Given the description of an element on the screen output the (x, y) to click on. 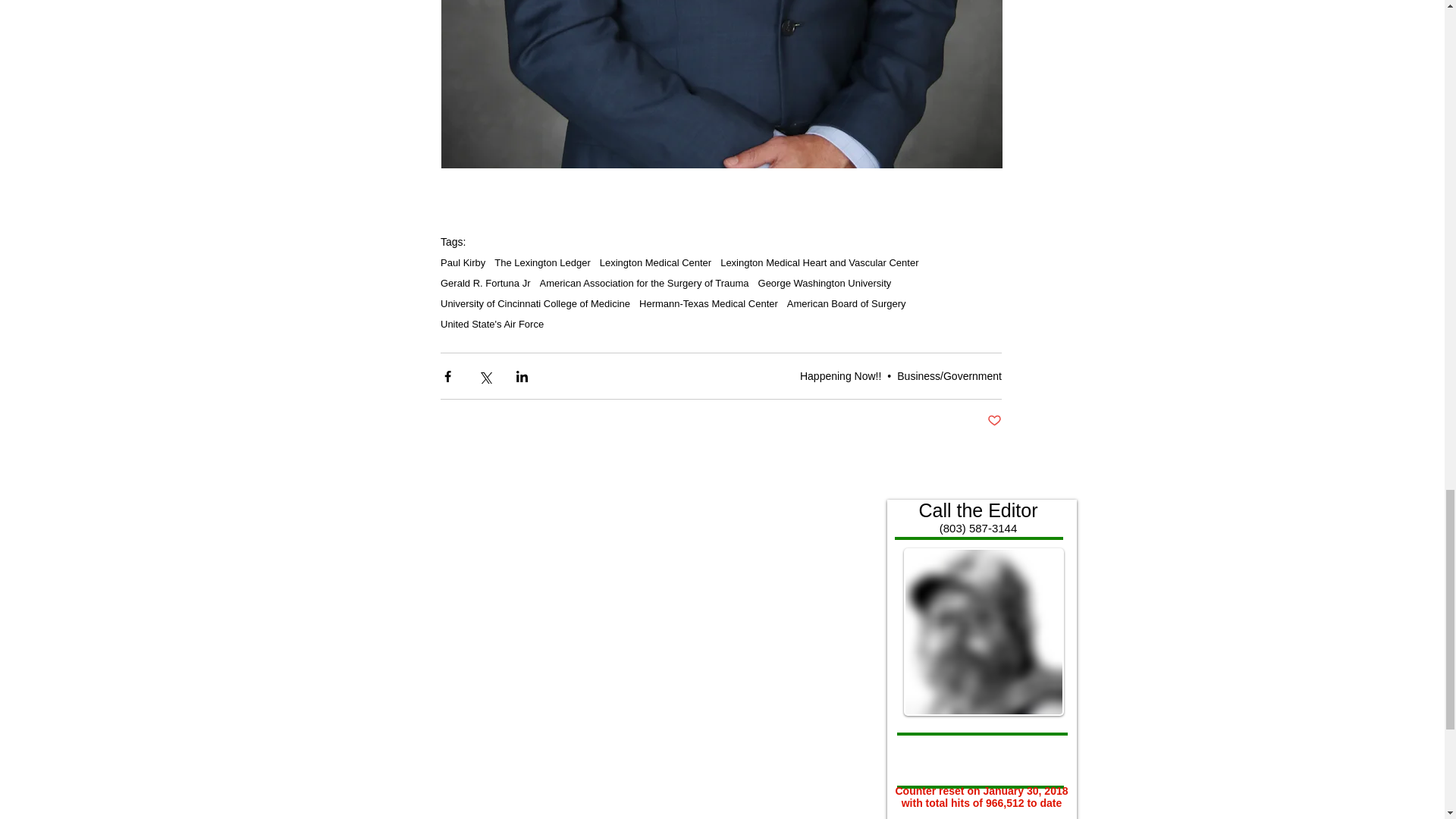
United State's Air Force (492, 324)
Gerald R. Fortuna Jr (486, 283)
Happening Now!! (839, 376)
University of Cincinnati College of Medicine (535, 303)
The Lexington Ledger (542, 262)
Lexington Medical Center (655, 262)
Post not marked as liked (994, 421)
George Washington University (824, 283)
Hermann-Texas Medical Center (708, 303)
Lexington Medical Heart and Vascular Center (819, 262)
